Given the description of an element on the screen output the (x, y) to click on. 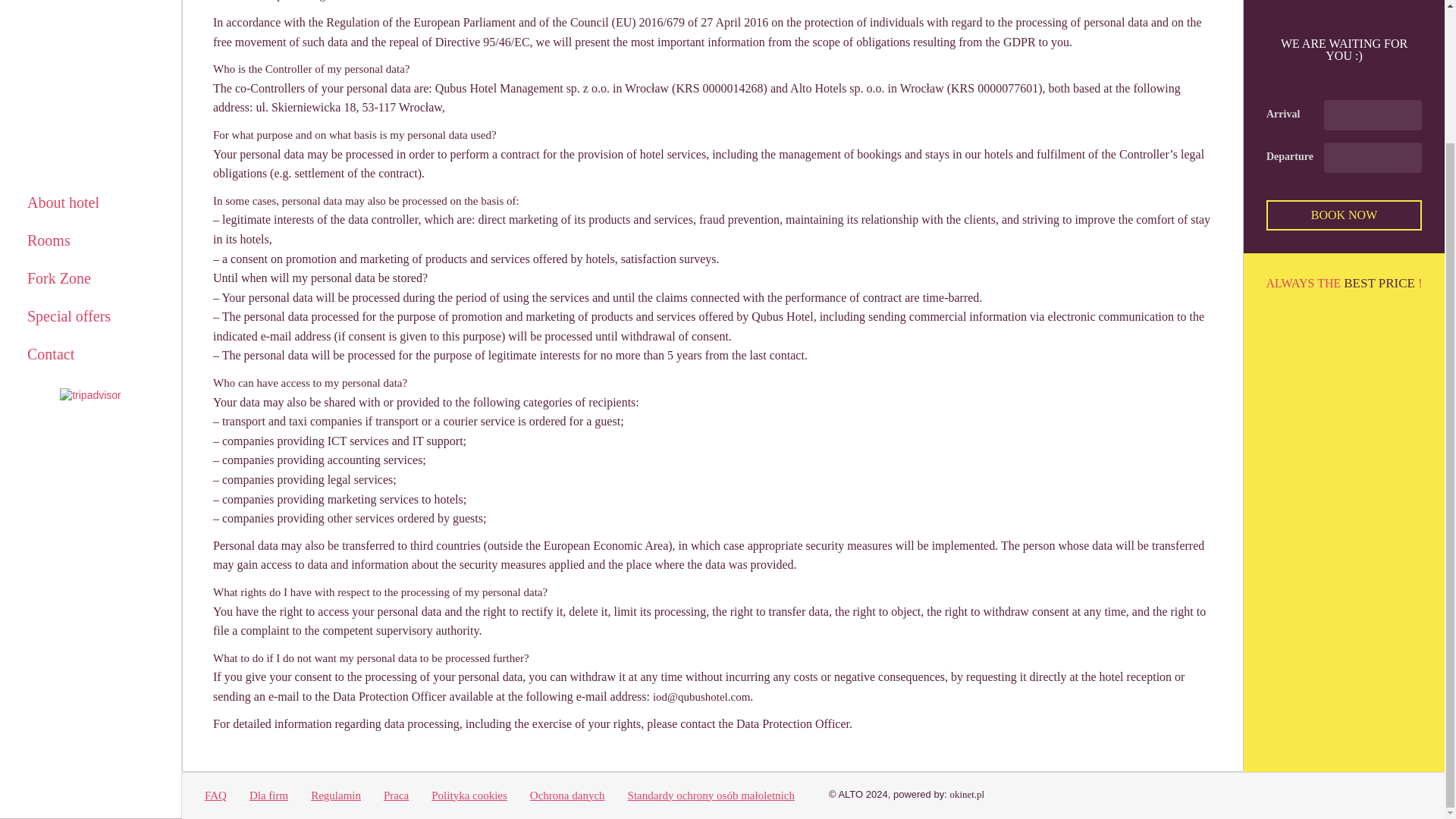
okinet.pl (966, 631)
Polityka cookies (468, 632)
Dla firm (268, 632)
Rooms (90, 77)
BOOK NOW (1344, 51)
Contact (90, 190)
Agencja interaktywna (966, 631)
Ochrona danych (567, 632)
Regulamin (336, 632)
FAQ (216, 632)
About hotel (90, 39)
Praca (396, 632)
Fork Zone (90, 115)
Special offers (90, 152)
